Given the description of an element on the screen output the (x, y) to click on. 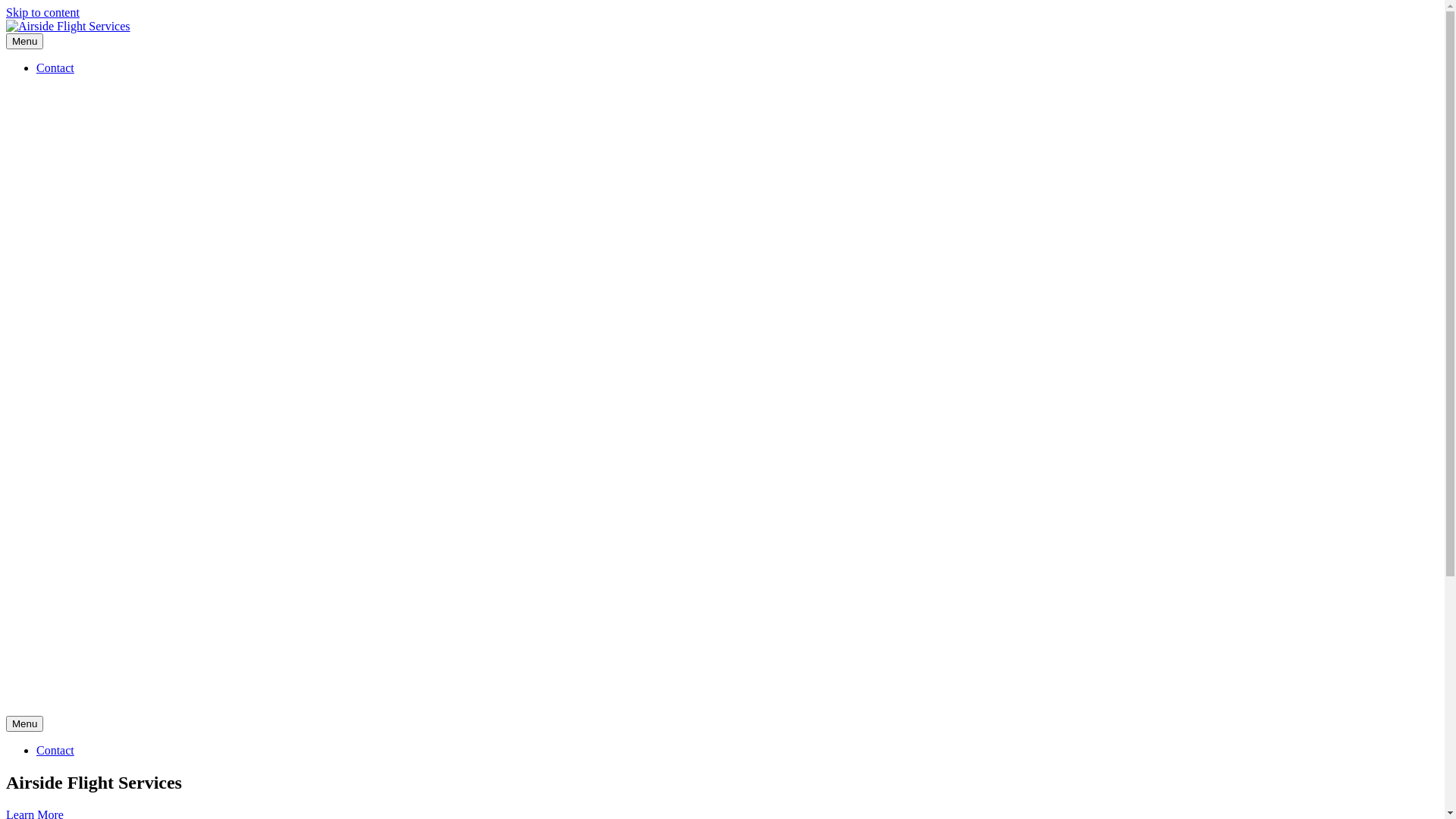
Contact Element type: text (55, 67)
Contact Element type: text (55, 749)
Menu Element type: text (24, 723)
Menu Element type: text (24, 41)
Skip to content Element type: text (42, 12)
